Given the description of an element on the screen output the (x, y) to click on. 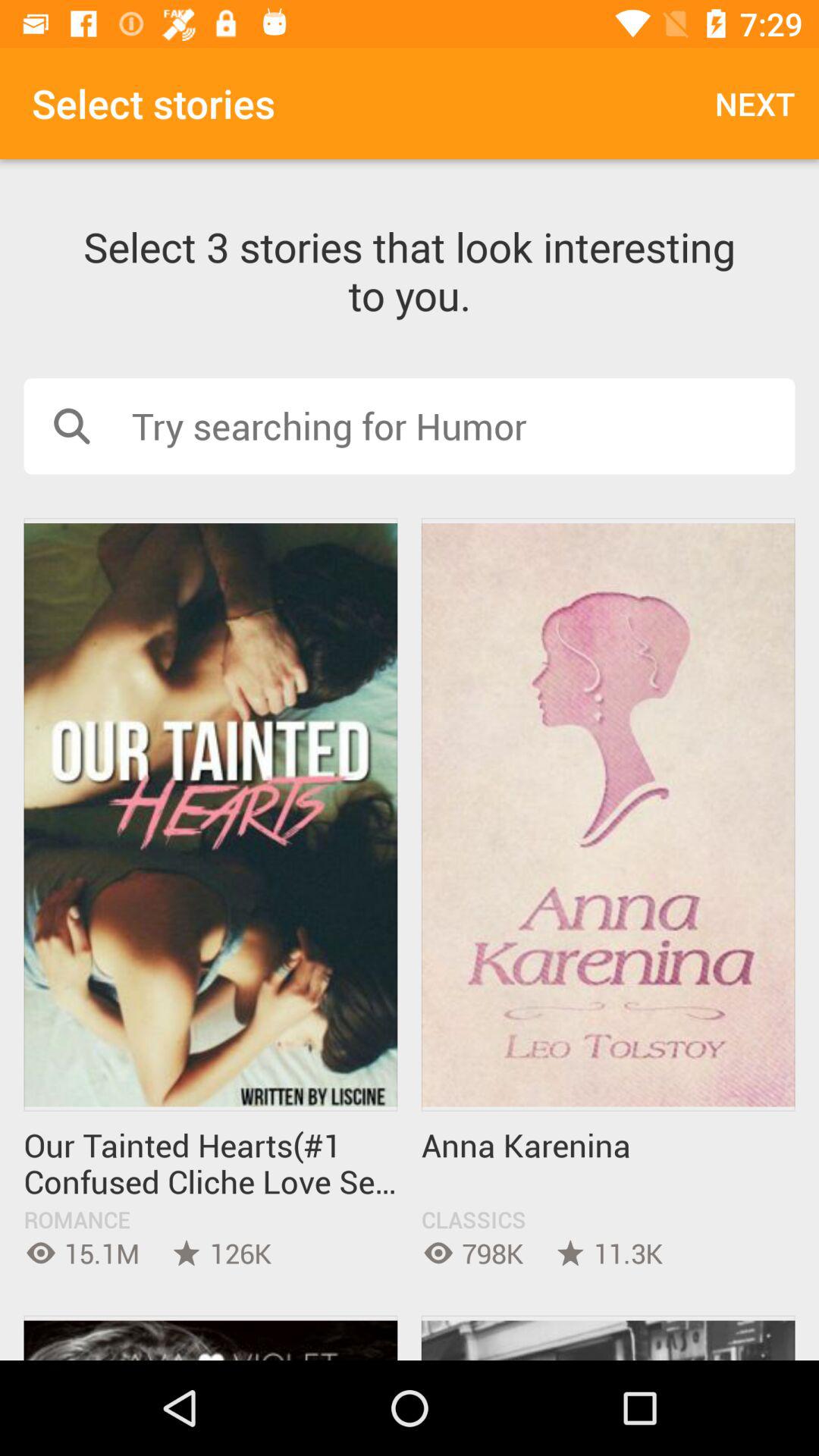
turn on icon next to the select stories item (755, 103)
